Given the description of an element on the screen output the (x, y) to click on. 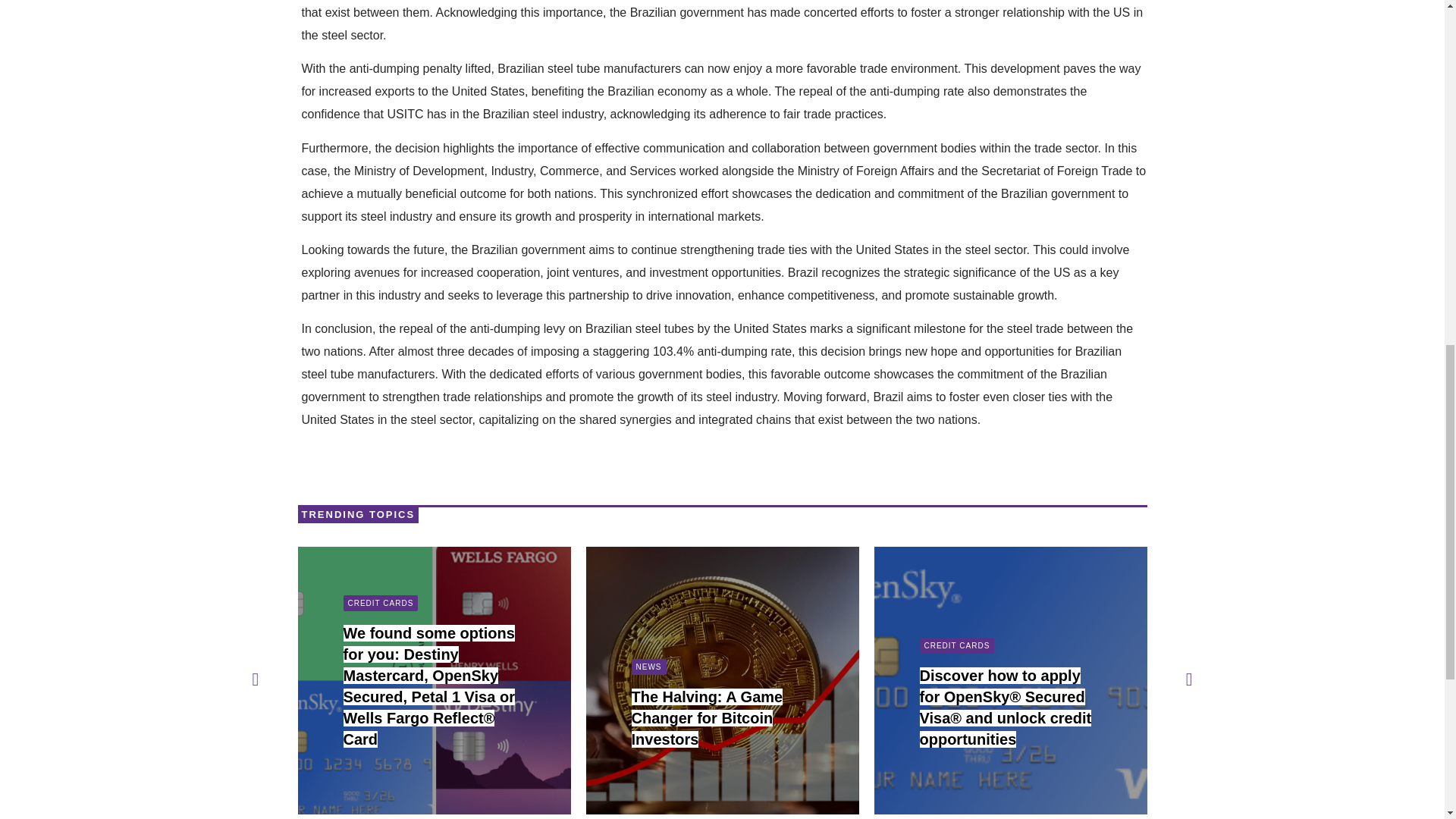
The Halving: A Game Changer for Bitcoin Investors (706, 717)
CREDIT CARDS (956, 645)
TRENDING TOPICS (358, 514)
CREDIT CARDS (379, 602)
The Halving: A Game Changer for Bitcoin Investors (706, 717)
NEWS (647, 666)
